Given the description of an element on the screen output the (x, y) to click on. 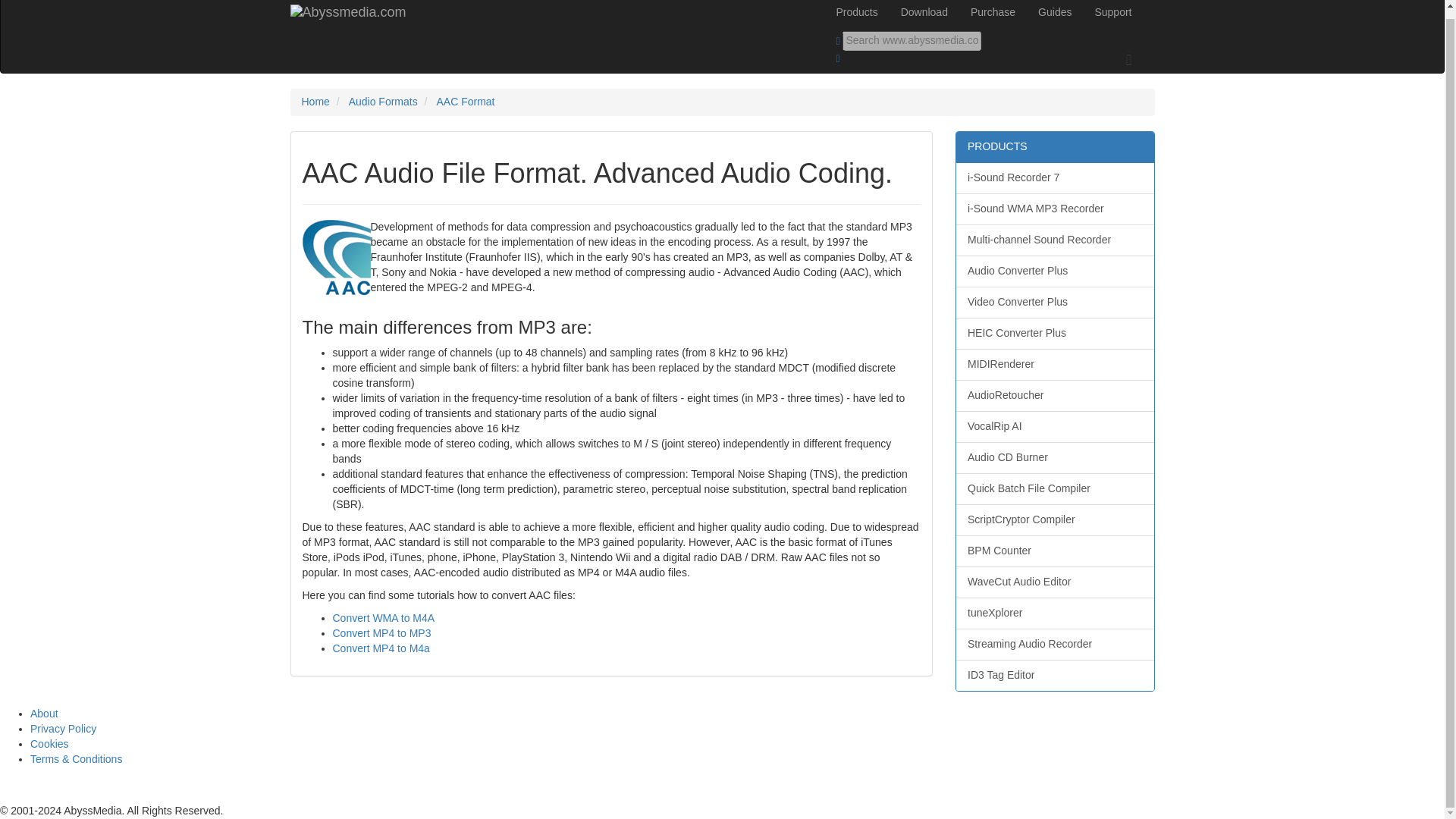
MIDIRenderer (1055, 364)
i-Sound Recorder 7 (1055, 178)
Video Converter Plus (1055, 302)
Instagram (93, 786)
Instagram (93, 795)
Purchase (992, 15)
HEIC Converter Plus (1055, 333)
BPM Counter (1055, 551)
RSS Feed (147, 786)
Abyssmedia (359, 15)
Home (315, 101)
ScriptCryptor Compiler (1055, 520)
WaveCut Audio Editor (1055, 582)
Pinterest (121, 786)
Convert WMA to M4A (382, 617)
